Given the description of an element on the screen output the (x, y) to click on. 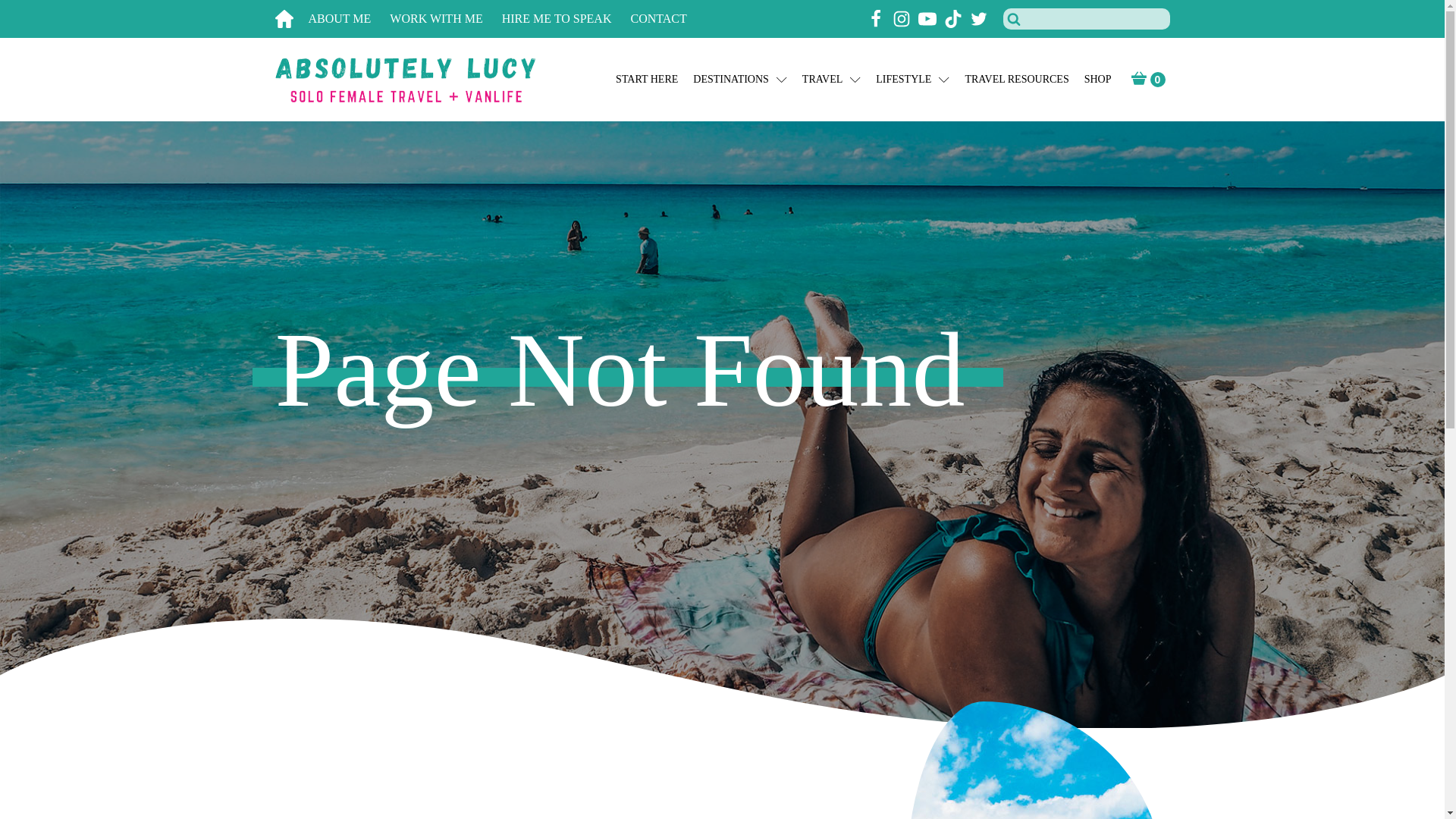
CONTACT (667, 19)
WORK WITH ME (445, 19)
SHOP (1098, 79)
DESTINATIONS (740, 79)
TRAVEL (831, 79)
Search (31, 13)
START HERE (646, 79)
HIRE ME TO SPEAK (566, 19)
LIFESTYLE (912, 79)
TRAVEL RESOURCES (1015, 79)
ABOUT ME (348, 19)
